Given the description of an element on the screen output the (x, y) to click on. 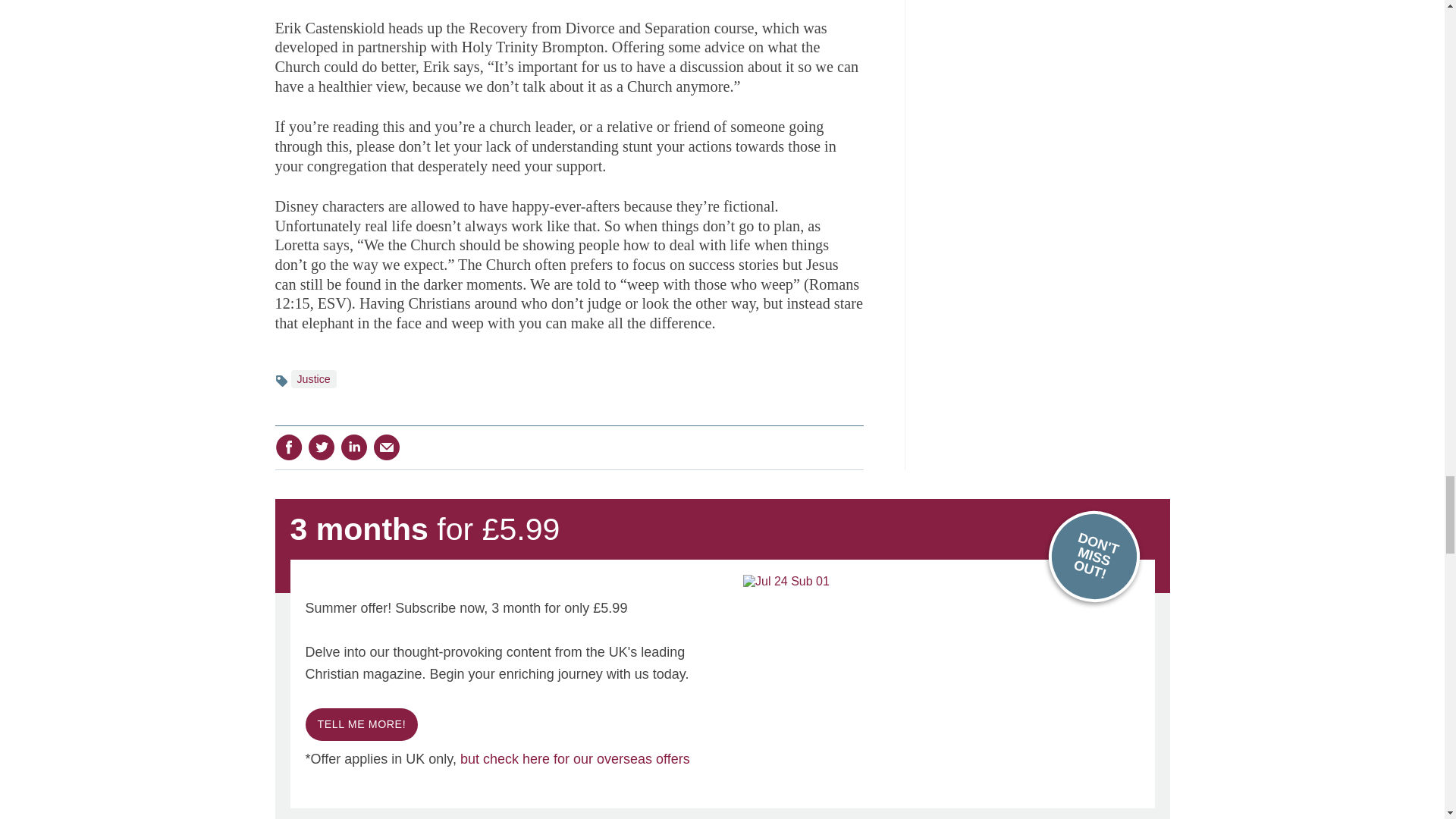
Share this on Facebook (288, 447)
Share this on Linked in (352, 447)
Email this article (386, 447)
Share this on Twitter (320, 447)
